Given the description of an element on the screen output the (x, y) to click on. 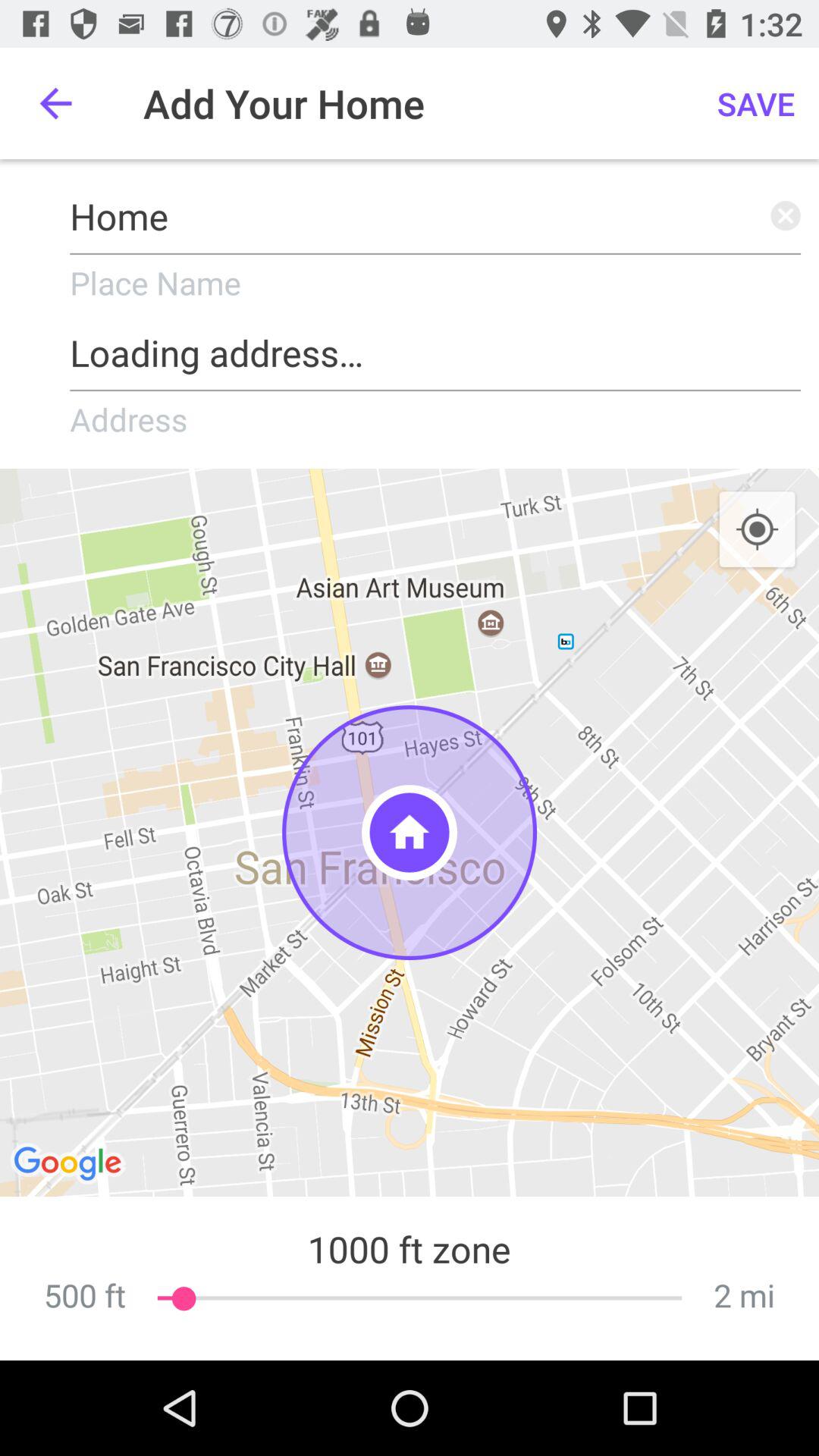
select the icon to the left of add your home icon (55, 103)
